Given the description of an element on the screen output the (x, y) to click on. 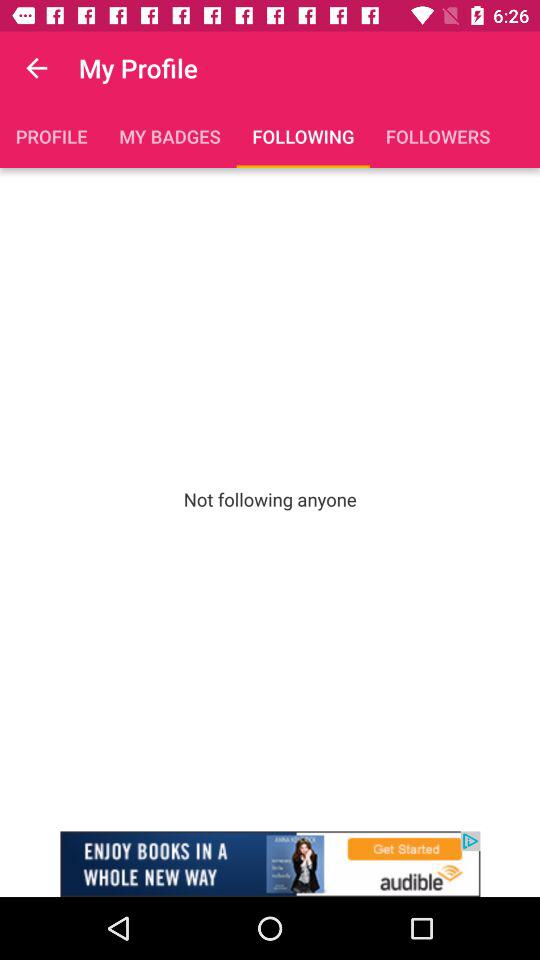
advertisement (270, 864)
